Given the description of an element on the screen output the (x, y) to click on. 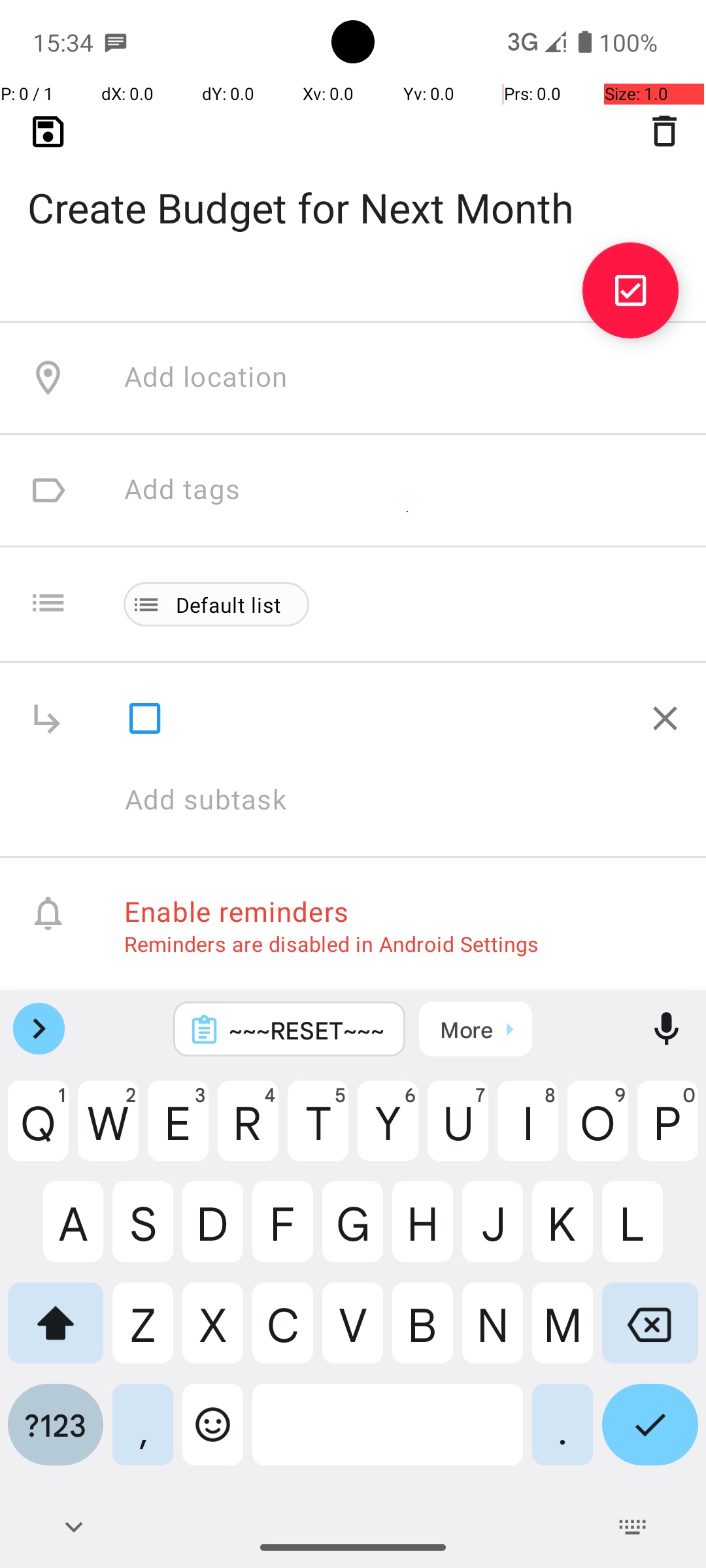
Create Budget for Next Month Element type: android.widget.EditText (353, 186)
